Given the description of an element on the screen output the (x, y) to click on. 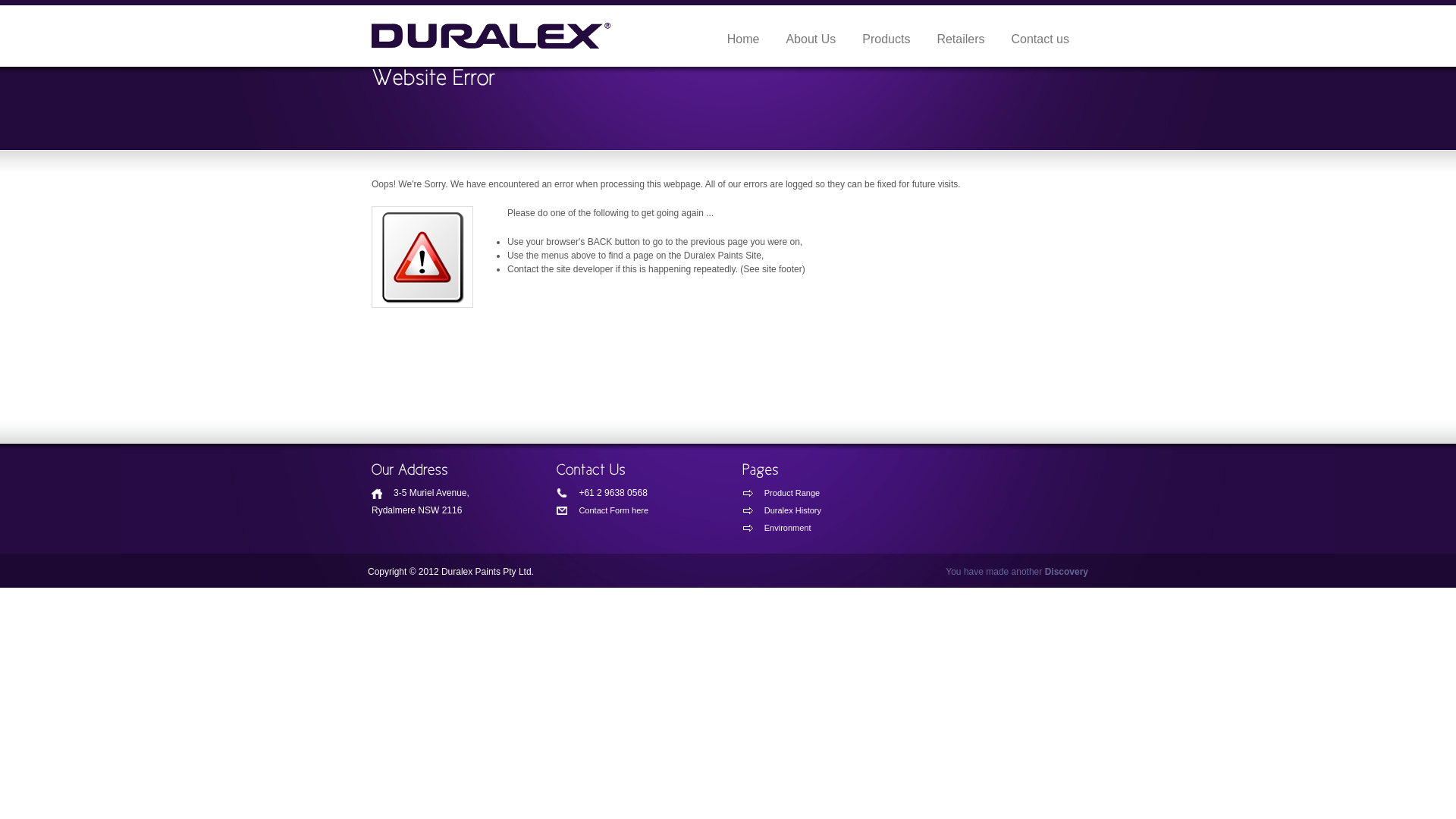
Contact Form here Element type: text (619, 510)
Retailers Element type: text (960, 39)
Products Element type: text (886, 39)
Product Range Element type: text (805, 492)
Duralex History Element type: text (805, 510)
Environment Element type: text (805, 527)
Discovery Element type: text (1066, 571)
Contact us Element type: text (1040, 39)
About Us Element type: text (810, 39)
Home Element type: text (743, 39)
